Given the description of an element on the screen output the (x, y) to click on. 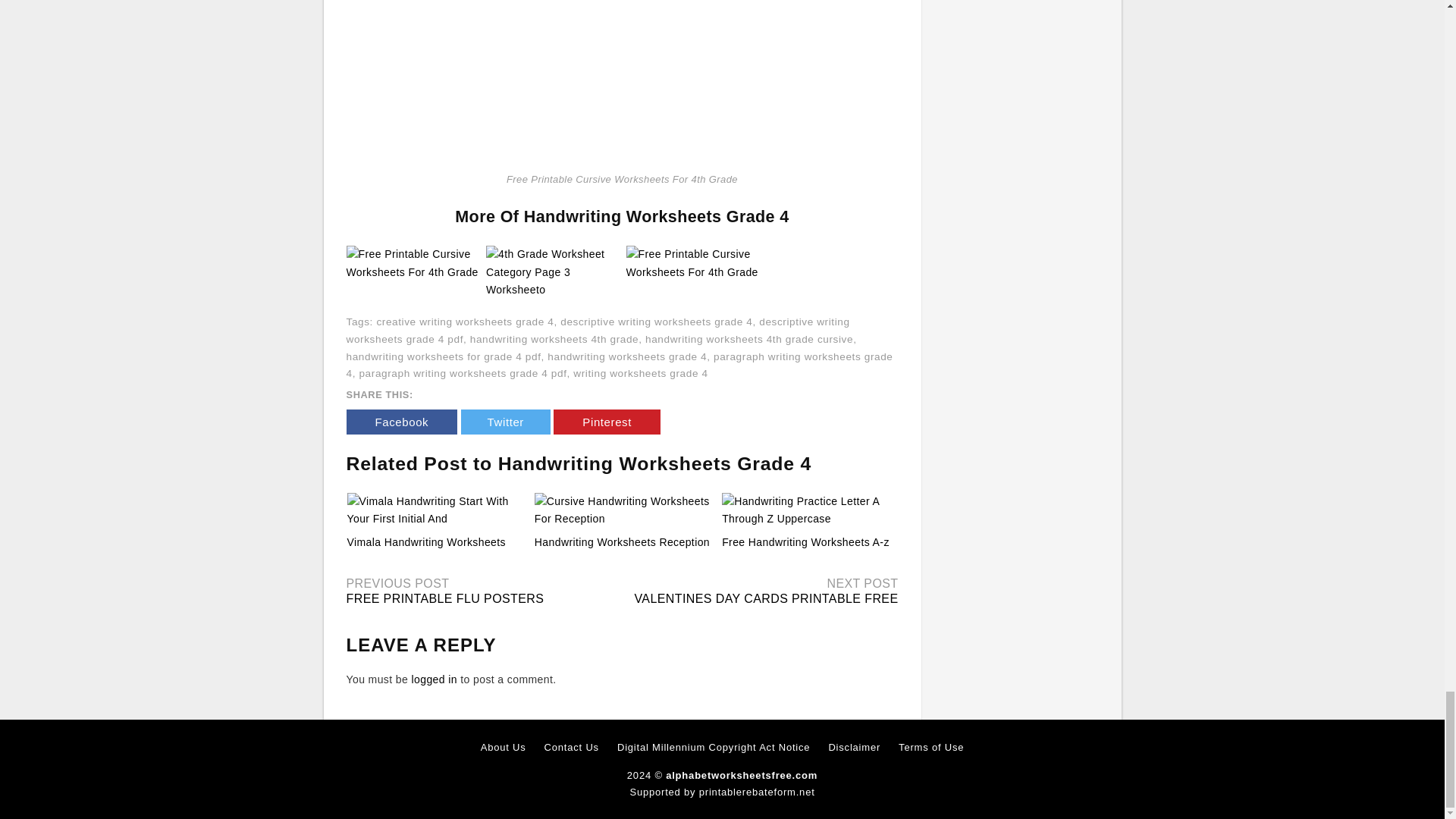
handwriting worksheets for grade 4 pdf (443, 356)
Twitter (505, 421)
Free Printable Cursive Worksheets For 4th Grade (692, 262)
Facebook (401, 421)
handwriting worksheets grade 4 (626, 356)
handwriting worksheets 4th grade cursive (749, 338)
Pinterest (607, 421)
writing worksheets grade 4 (640, 373)
handwriting worksheets 4th grade (554, 338)
Free Printable Cursive Worksheets For 4th Grade (412, 263)
